Given the description of an element on the screen output the (x, y) to click on. 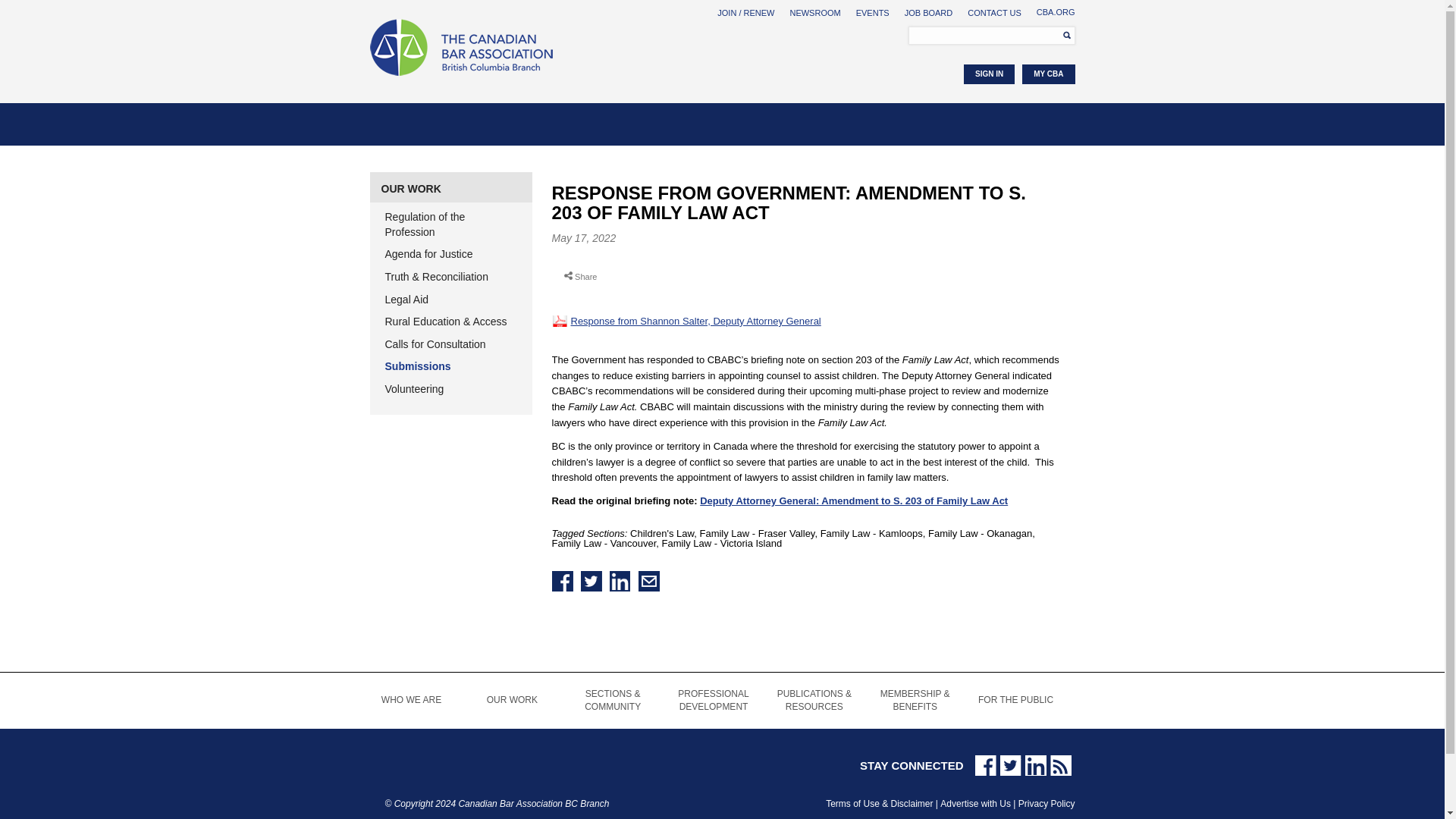
JOB BOARD (928, 12)
EVENTS (872, 12)
SIGN IN (988, 74)
MY CBA (1048, 74)
Search (1062, 35)
CBA.ORG (1055, 11)
NEWSROOM (814, 12)
CONTACT US (995, 12)
Search (1062, 35)
